Given the description of an element on the screen output the (x, y) to click on. 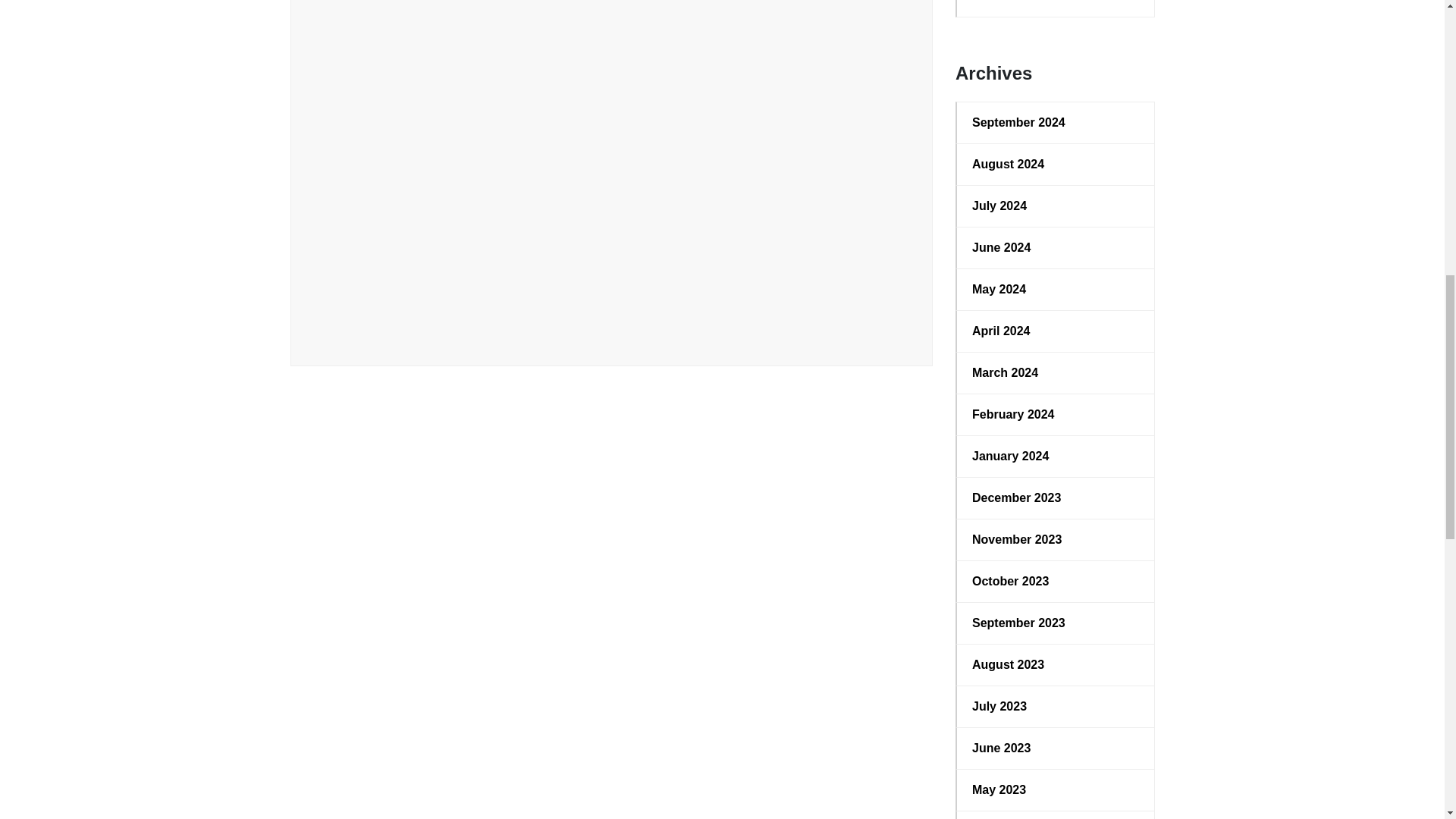
June 2023 (1055, 748)
May 2024 (1055, 289)
February 2024 (1055, 414)
September 2024 (1055, 122)
September 2023 (1055, 623)
July 2023 (1055, 706)
December 2023 (1055, 497)
November 2023 (1055, 539)
May 2023 (1055, 790)
June 2024 (1055, 248)
